Given the description of an element on the screen output the (x, y) to click on. 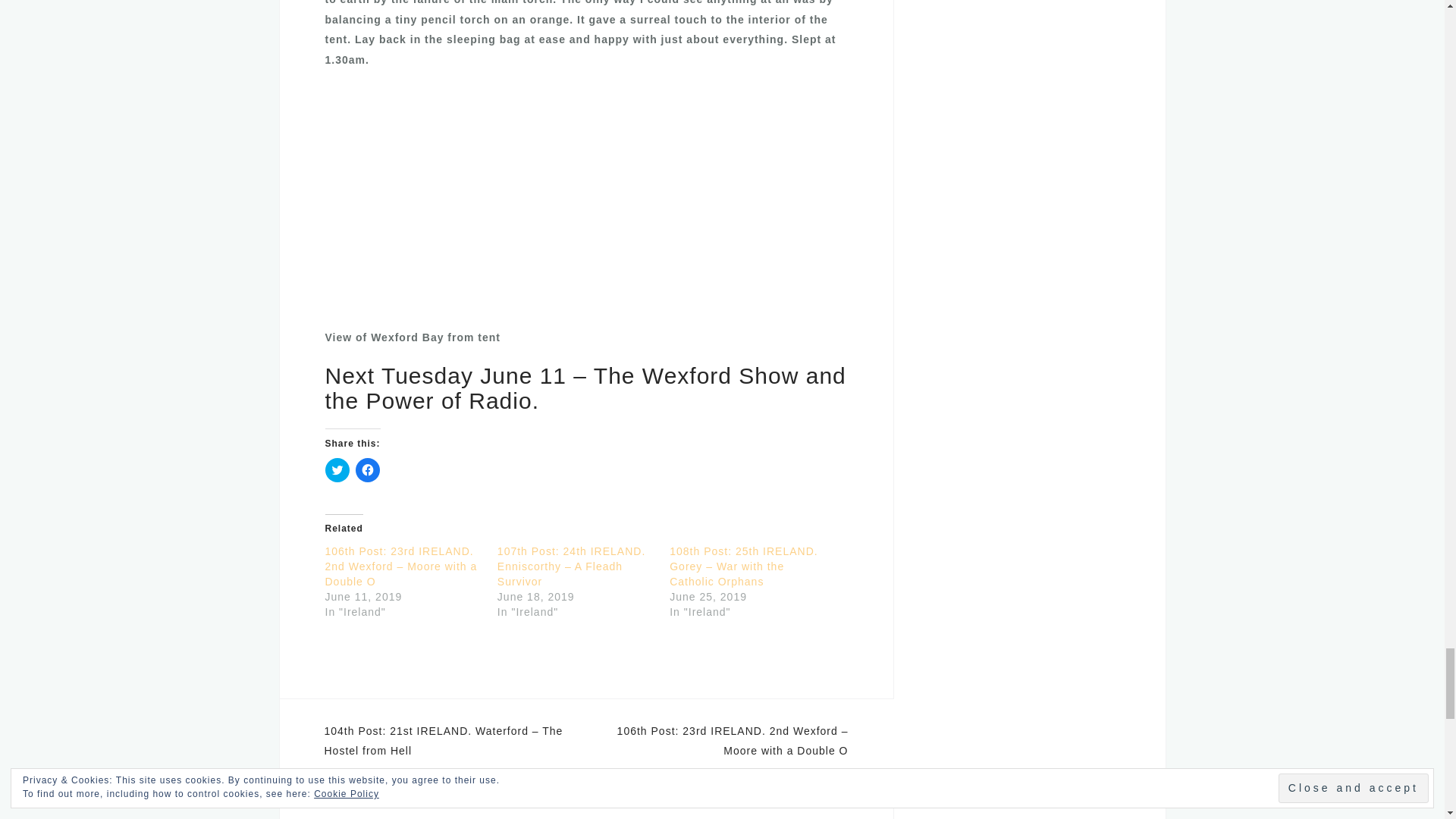
Click to share on Twitter (336, 469)
Click to share on Facebook (366, 469)
